Given the description of an element on the screen output the (x, y) to click on. 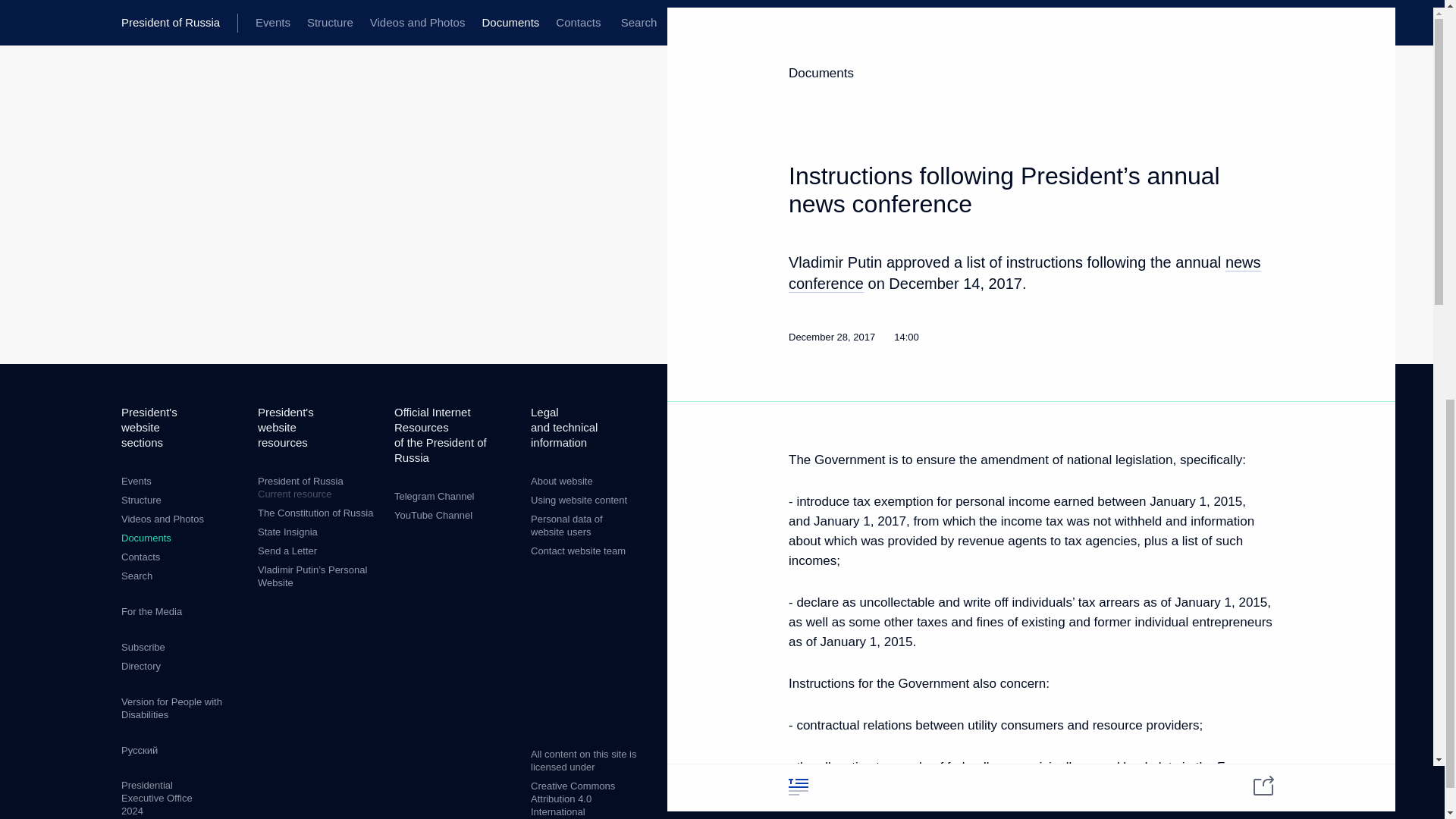
Version for People with Disabilities (171, 708)
For the Media (151, 611)
Personal data of website users (566, 525)
Creative Commons Attribution 4.0 International (572, 798)
Directory (140, 665)
Documents (145, 537)
Using website content (579, 500)
Structure (140, 500)
Contact website team (578, 550)
Contacts (140, 556)
